Given the description of an element on the screen output the (x, y) to click on. 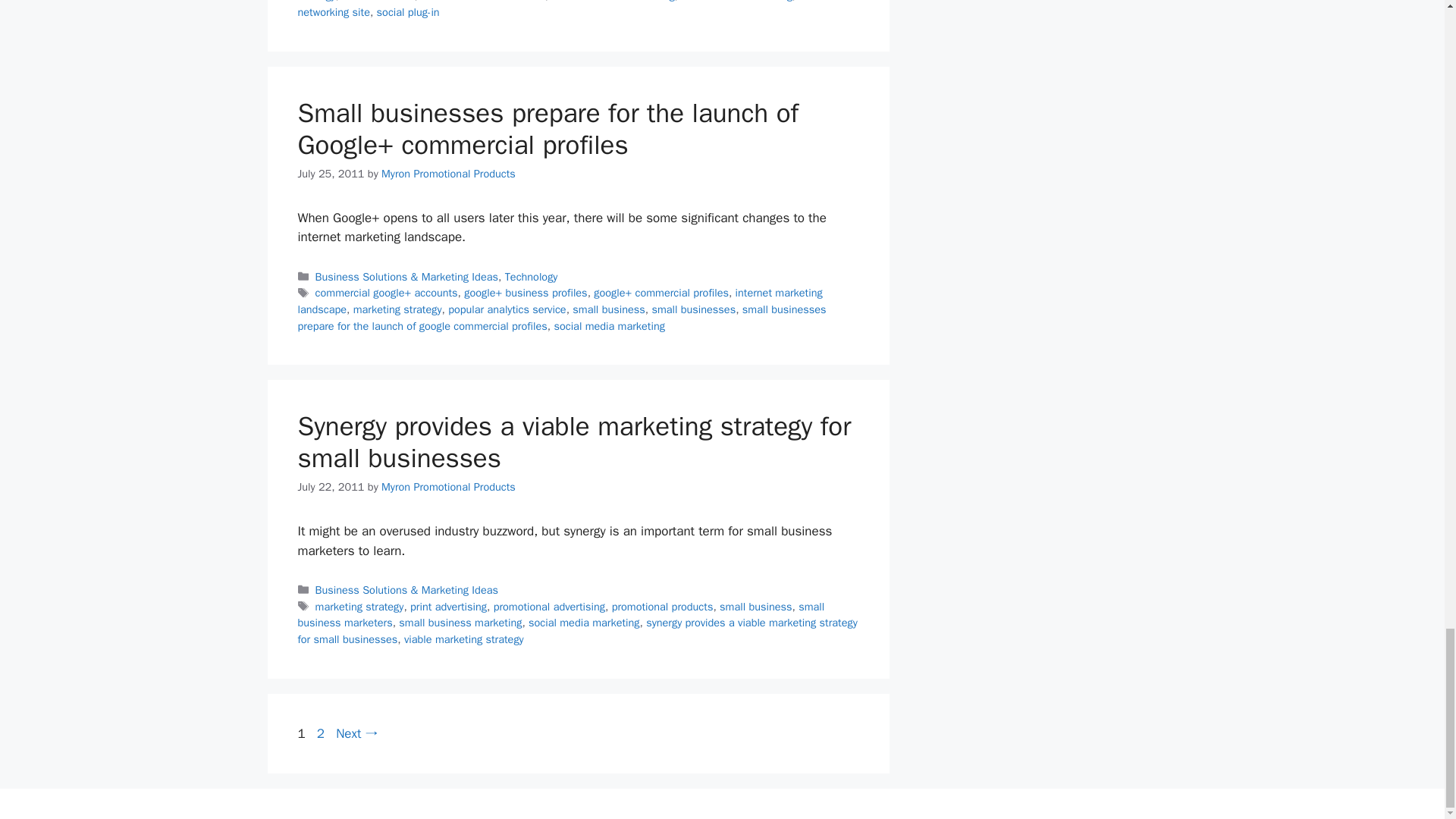
View all posts by Myron Promotional Products (448, 173)
View all posts by Myron Promotional Products (448, 486)
